Given the description of an element on the screen output the (x, y) to click on. 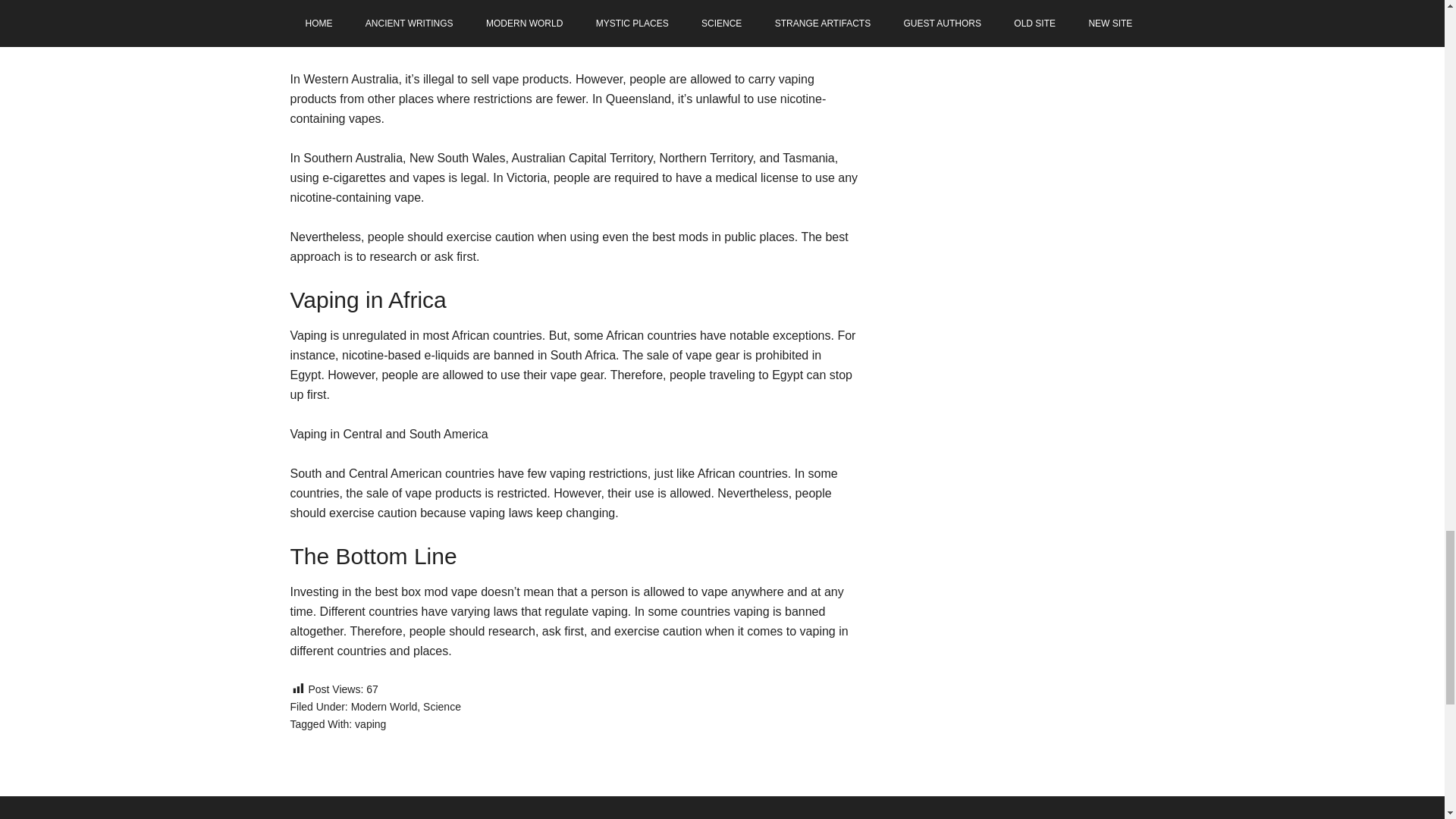
vaping (370, 724)
a study (683, 19)
Modern World (383, 706)
Science (442, 706)
